Given the description of an element on the screen output the (x, y) to click on. 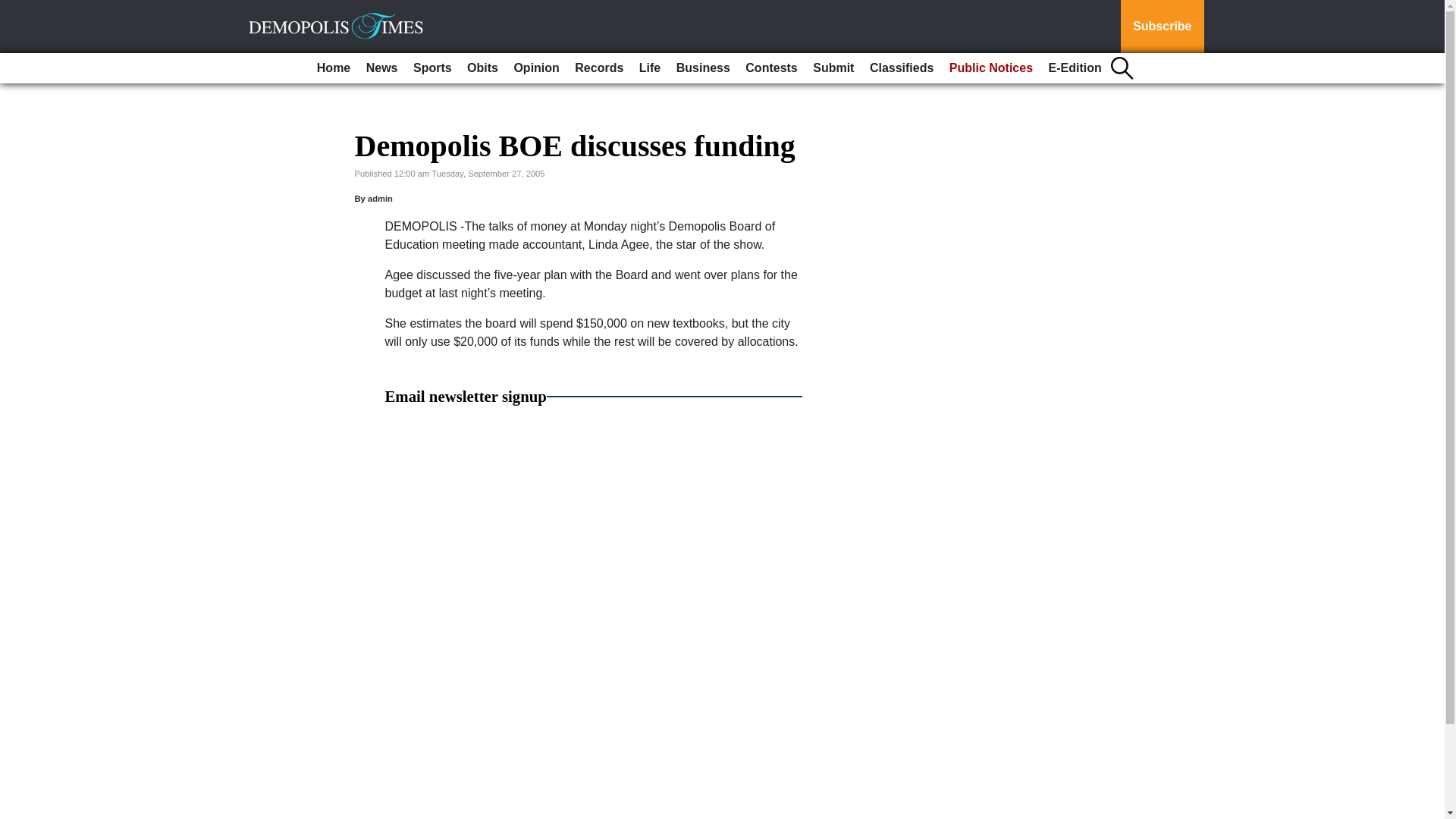
Business (702, 68)
Classifieds (901, 68)
Submit (833, 68)
E-Edition (1075, 68)
Obits (482, 68)
Home (333, 68)
Records (598, 68)
Opinion (535, 68)
Subscribe (1162, 26)
Public Notices (991, 68)
